Given the description of an element on the screen output the (x, y) to click on. 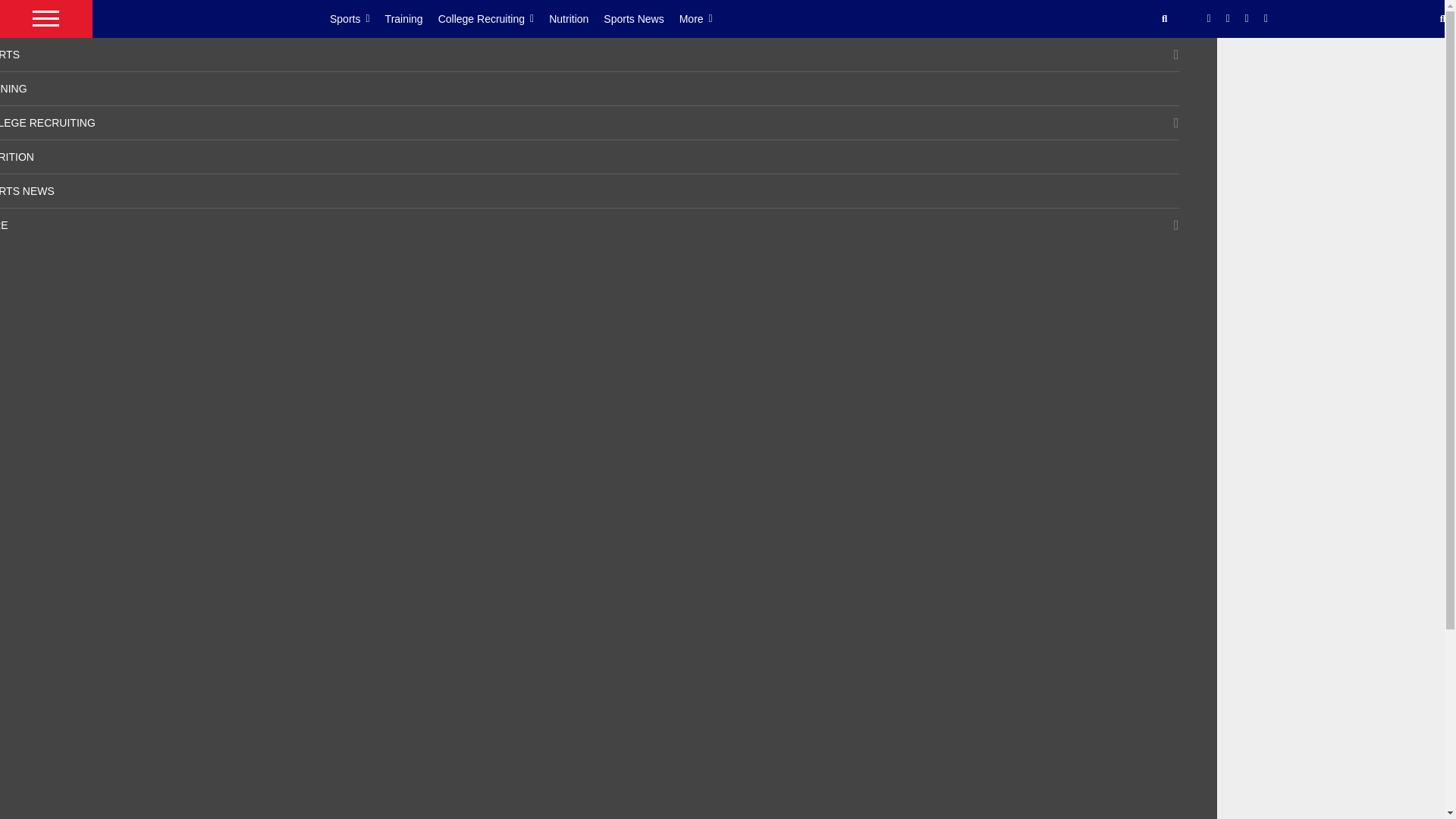
SPORTS (10, 54)
Facebook (1209, 18)
More (703, 18)
X (1227, 18)
Sports News (641, 18)
Nutrition (576, 18)
YouTube (1265, 18)
College Recruiting (494, 18)
Instagram (1246, 18)
Sports (357, 18)
Training (411, 18)
